Given the description of an element on the screen output the (x, y) to click on. 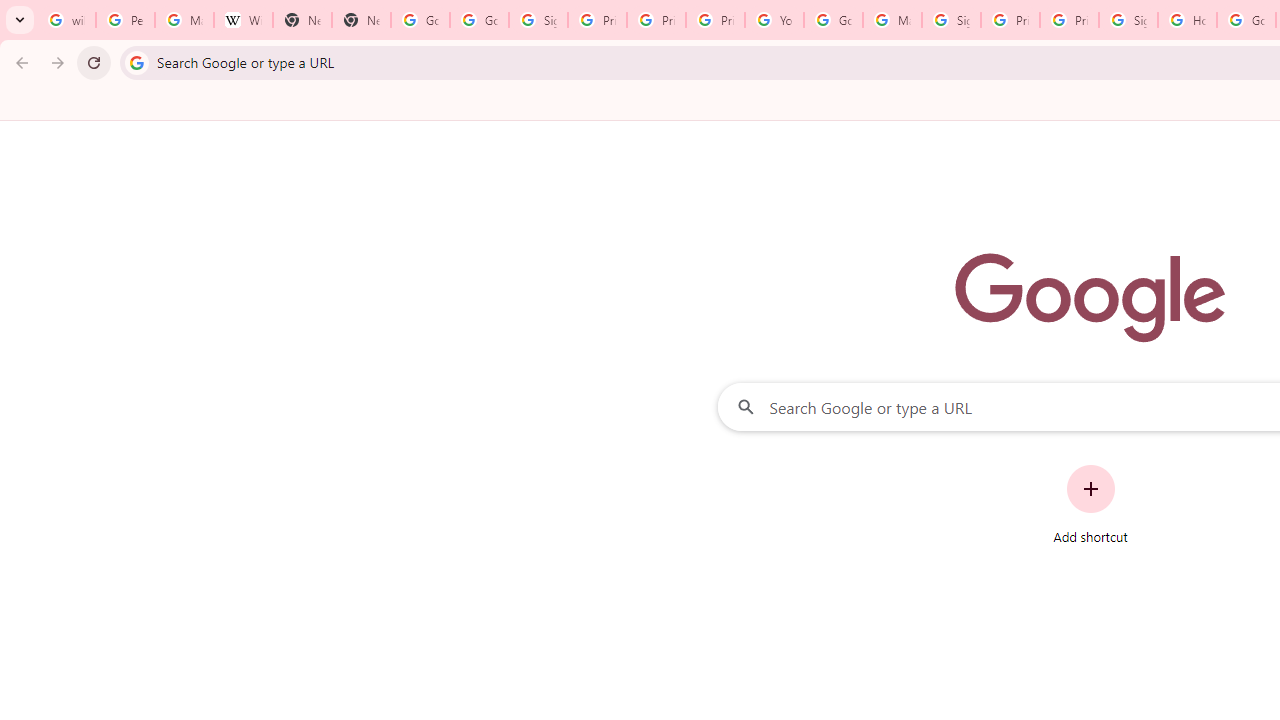
Google Account Help (832, 20)
Wikipedia:Edit requests - Wikipedia (242, 20)
Sign in - Google Accounts (950, 20)
Google Drive: Sign-in (479, 20)
YouTube (774, 20)
